Given the description of an element on the screen output the (x, y) to click on. 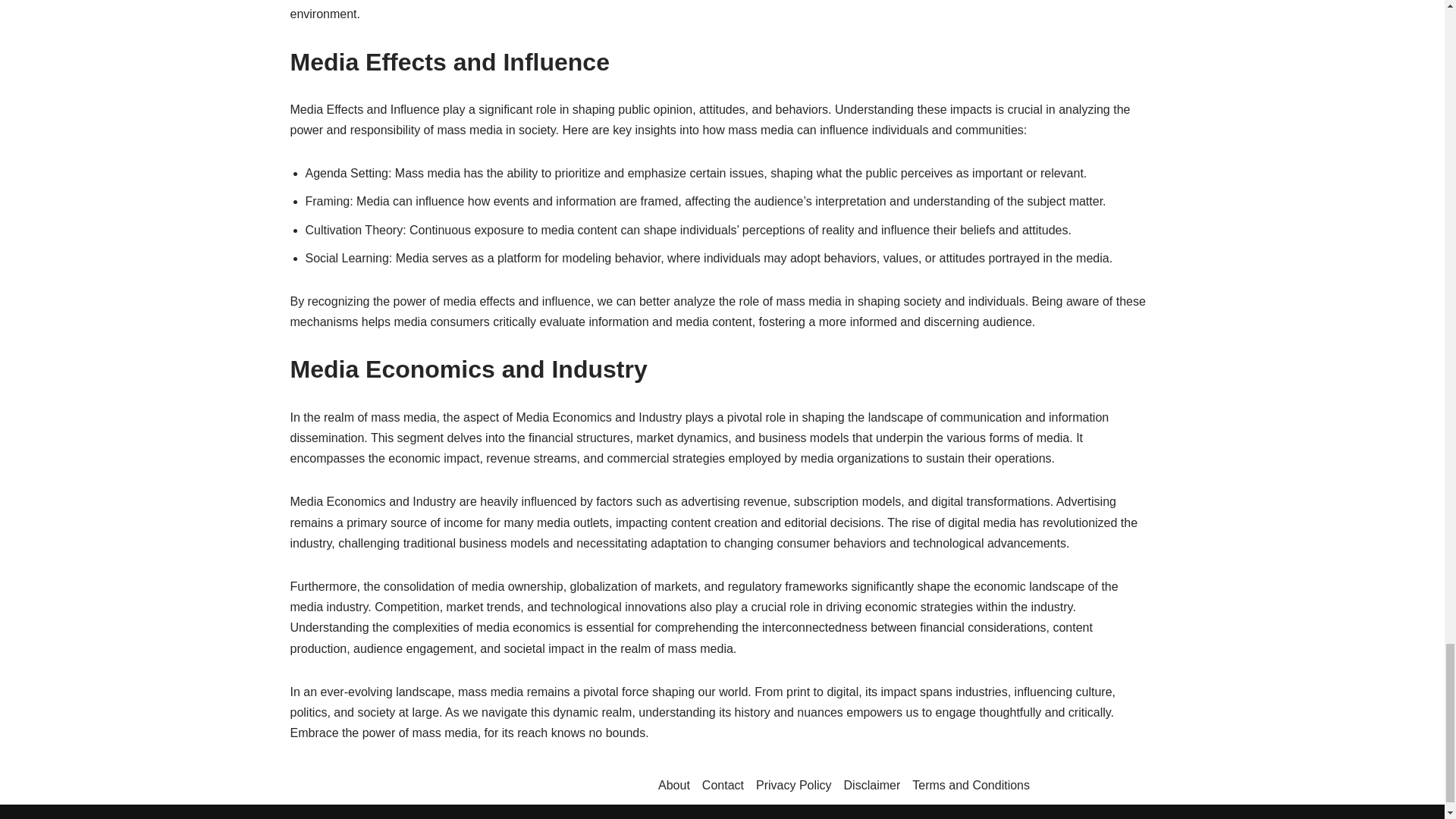
Neve (303, 818)
Contact (722, 784)
Disclaimer (872, 784)
Privacy Policy (793, 784)
WordPress (425, 818)
Terms and Conditions (970, 784)
About (674, 784)
